Given the description of an element on the screen output the (x, y) to click on. 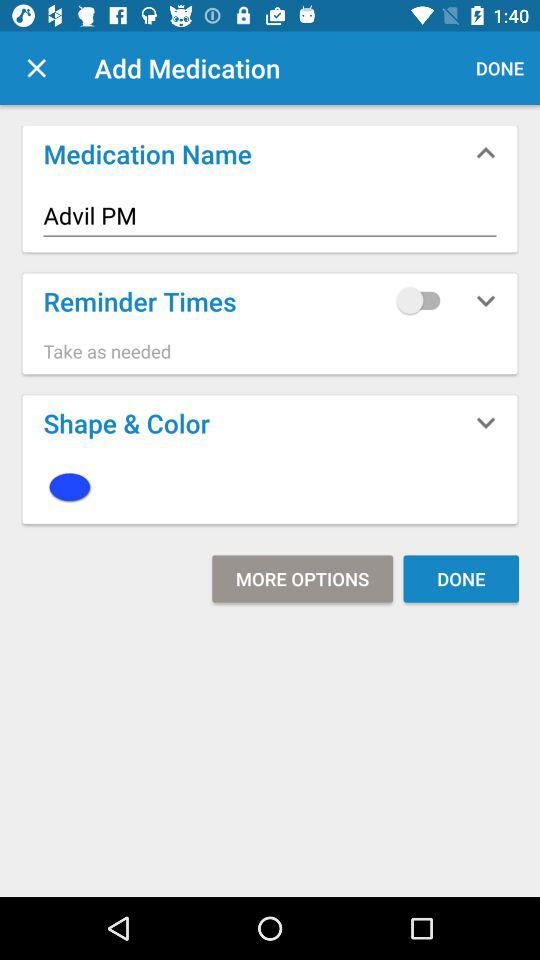
toggle reminder times (423, 300)
